Given the description of an element on the screen output the (x, y) to click on. 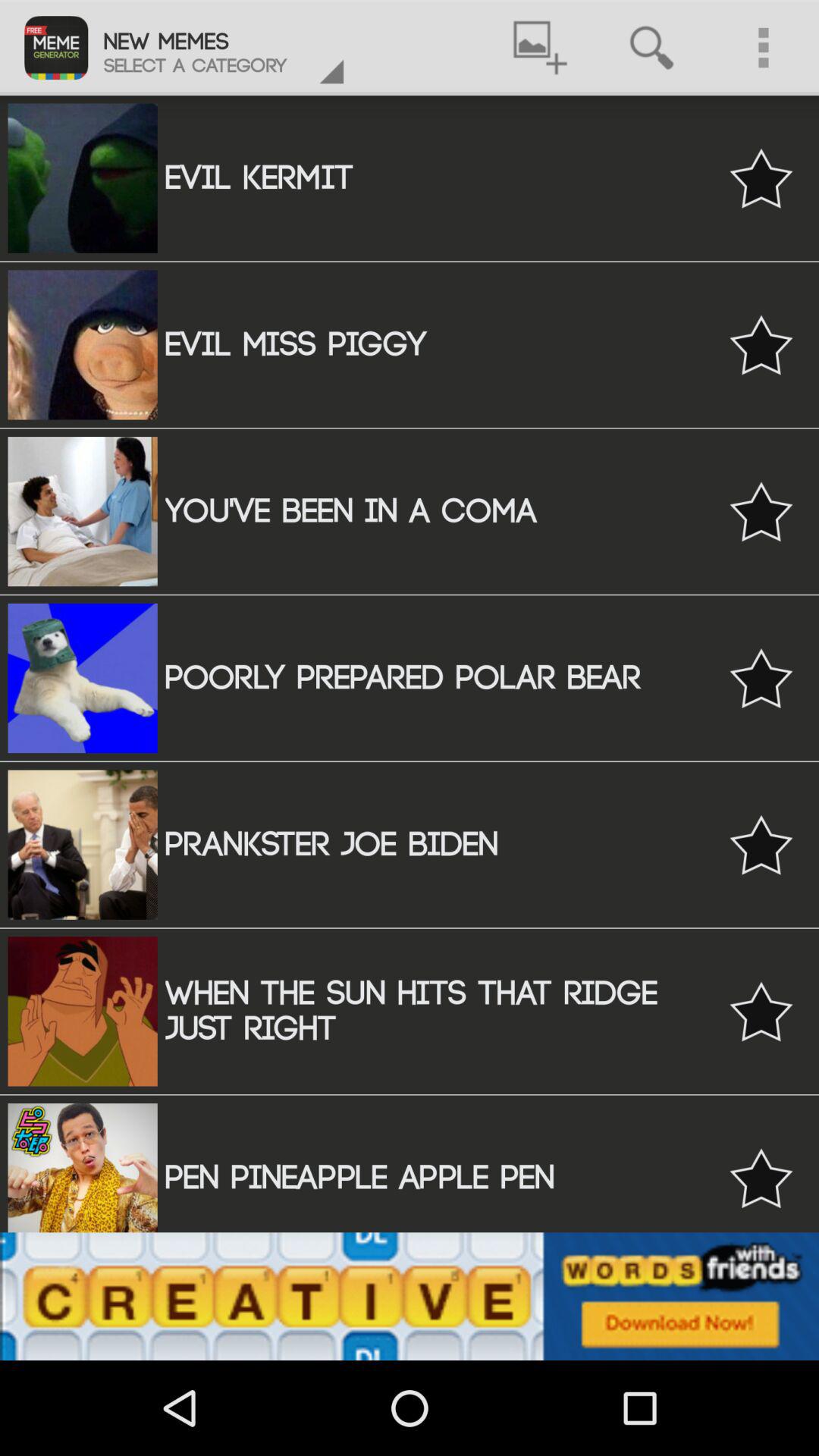
toggle favorite button (761, 344)
